Given the description of an element on the screen output the (x, y) to click on. 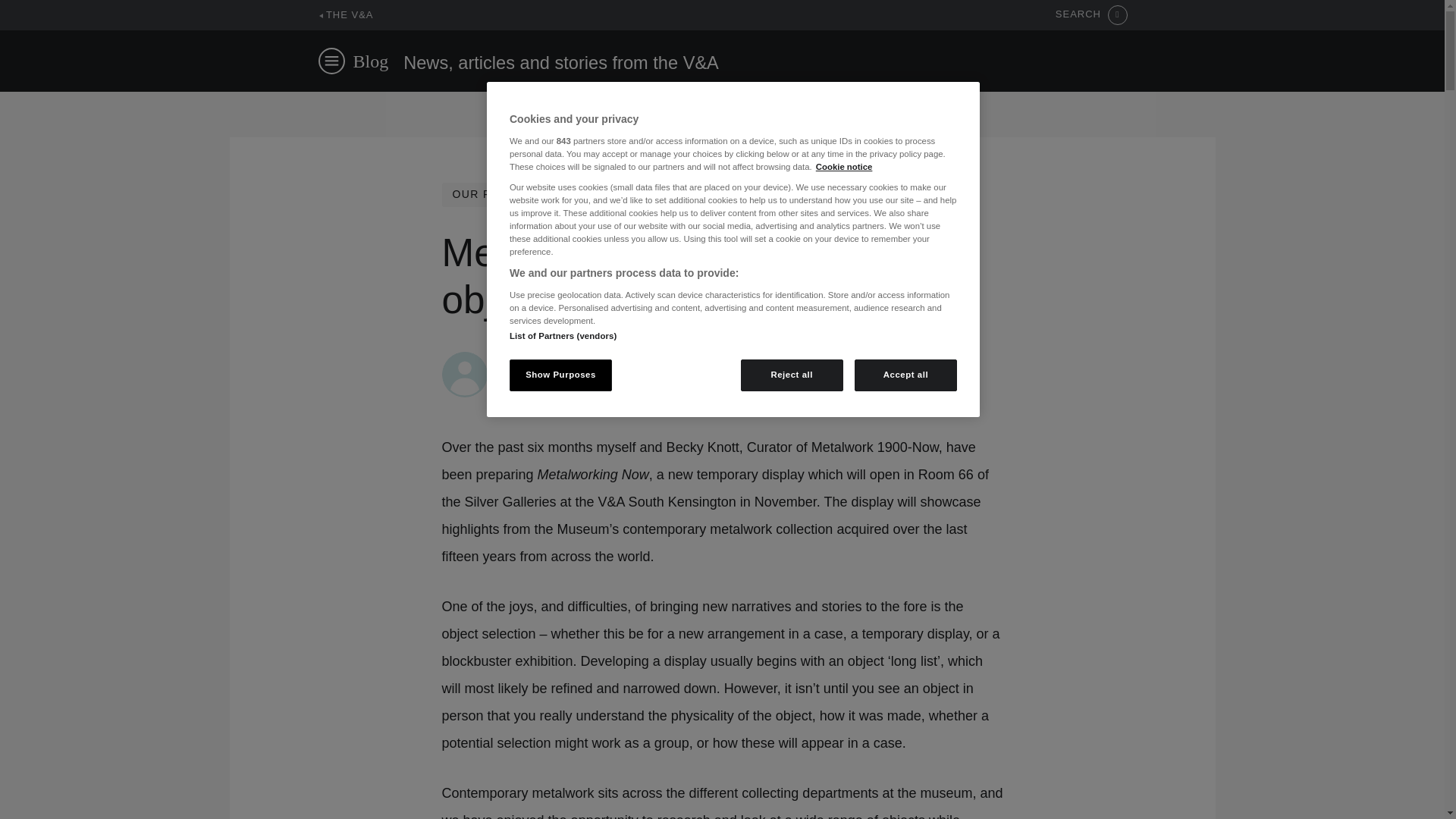
SEARCH (1090, 15)
OUR PROJECTS (499, 194)
Clementine Loustric (550, 359)
Blog (370, 60)
Posts by Clementine Loustric (550, 359)
